Given the description of an element on the screen output the (x, y) to click on. 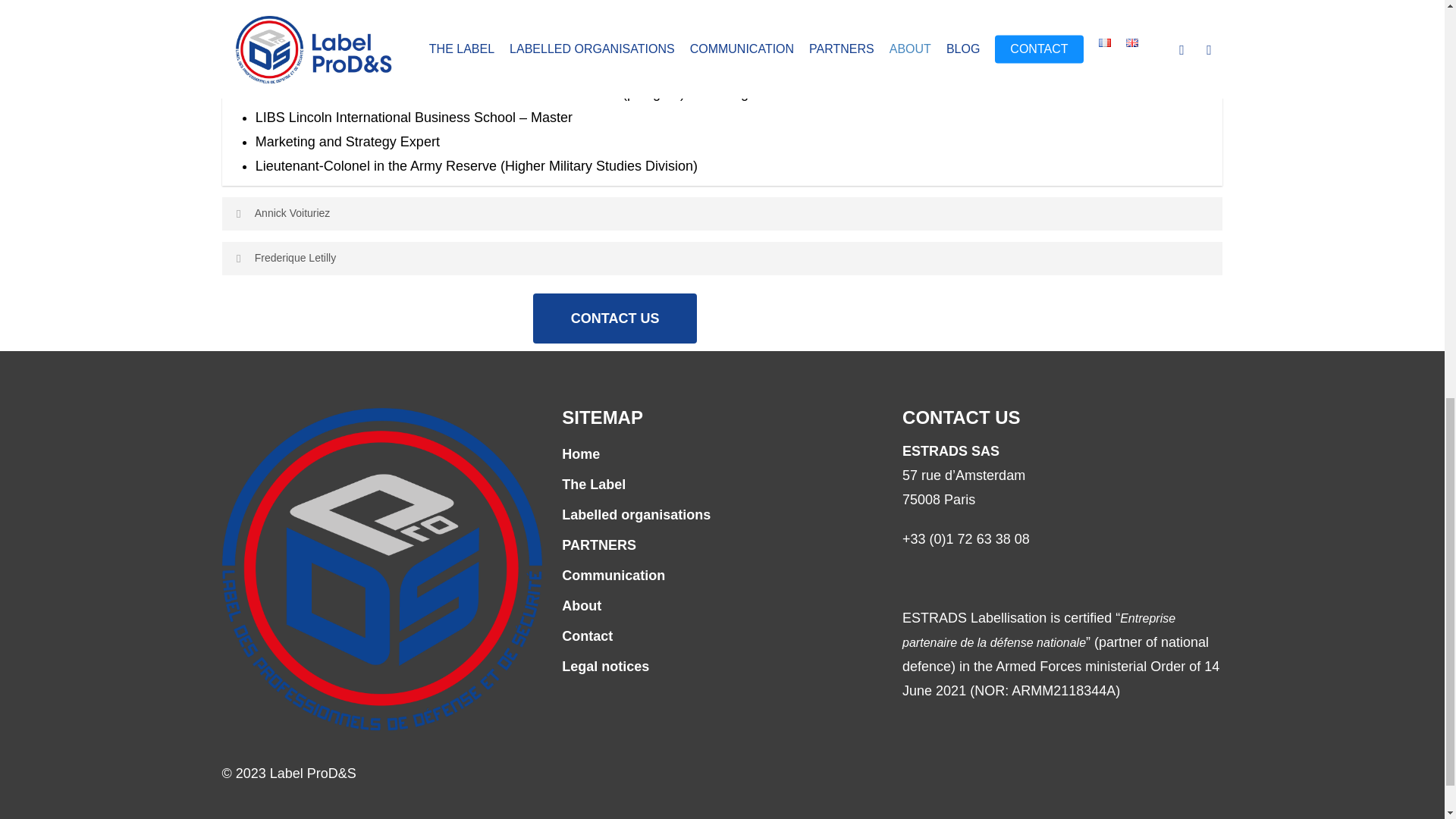
CONTACT US (614, 318)
Annick Voituriez (722, 213)
Contact (722, 636)
The Label (722, 484)
Legal notices (722, 666)
Communication (722, 575)
Home (722, 454)
Frederique Letilly (722, 258)
PARTNERS (722, 545)
About (722, 605)
Labelled organisations (722, 514)
